Given the description of an element on the screen output the (x, y) to click on. 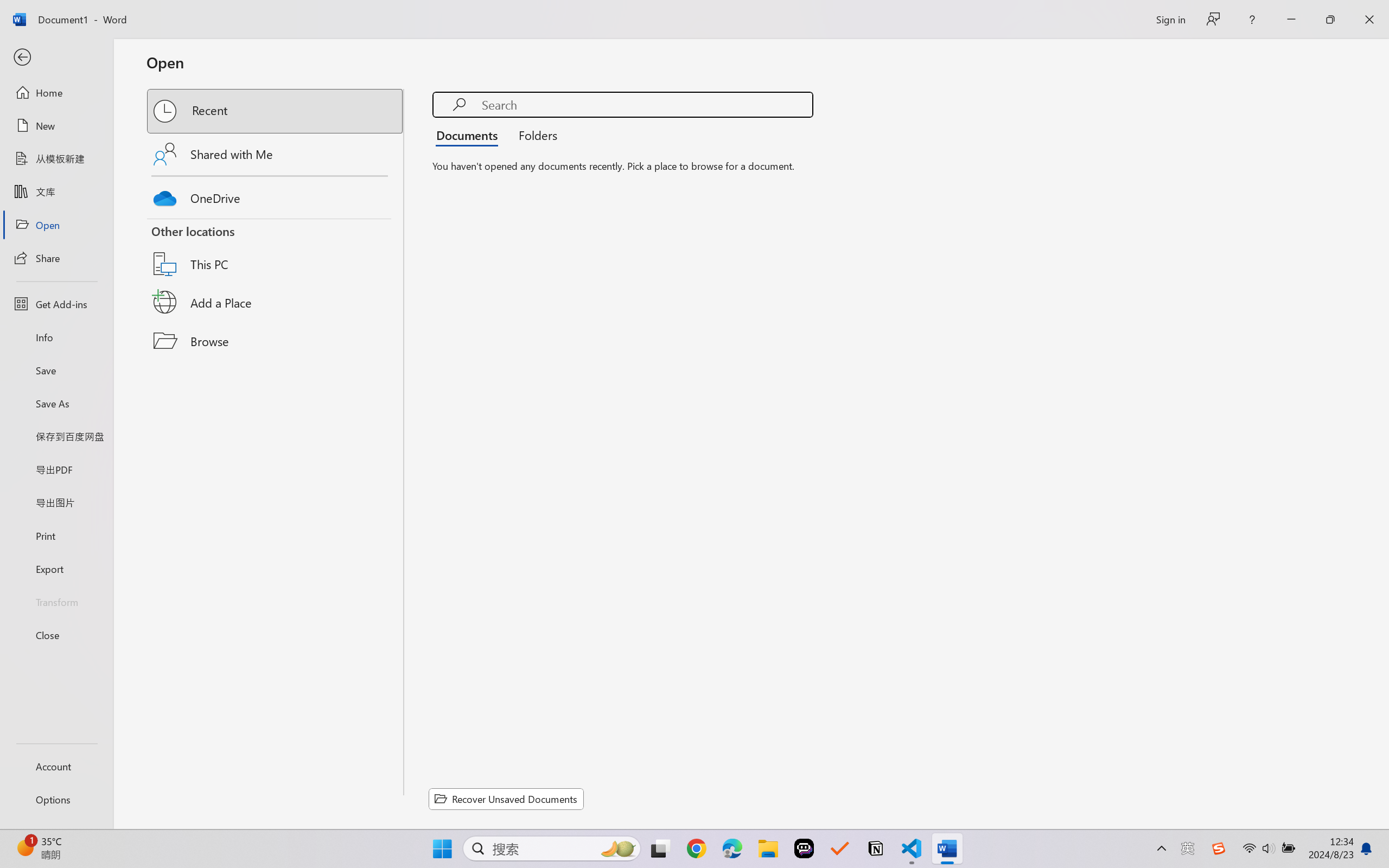
Transform (56, 601)
Print (56, 535)
Folders (534, 134)
New (56, 125)
Options (56, 798)
Back (56, 57)
OneDrive (275, 195)
This PC (275, 249)
Recent (275, 110)
Add a Place (275, 302)
